Given the description of an element on the screen output the (x, y) to click on. 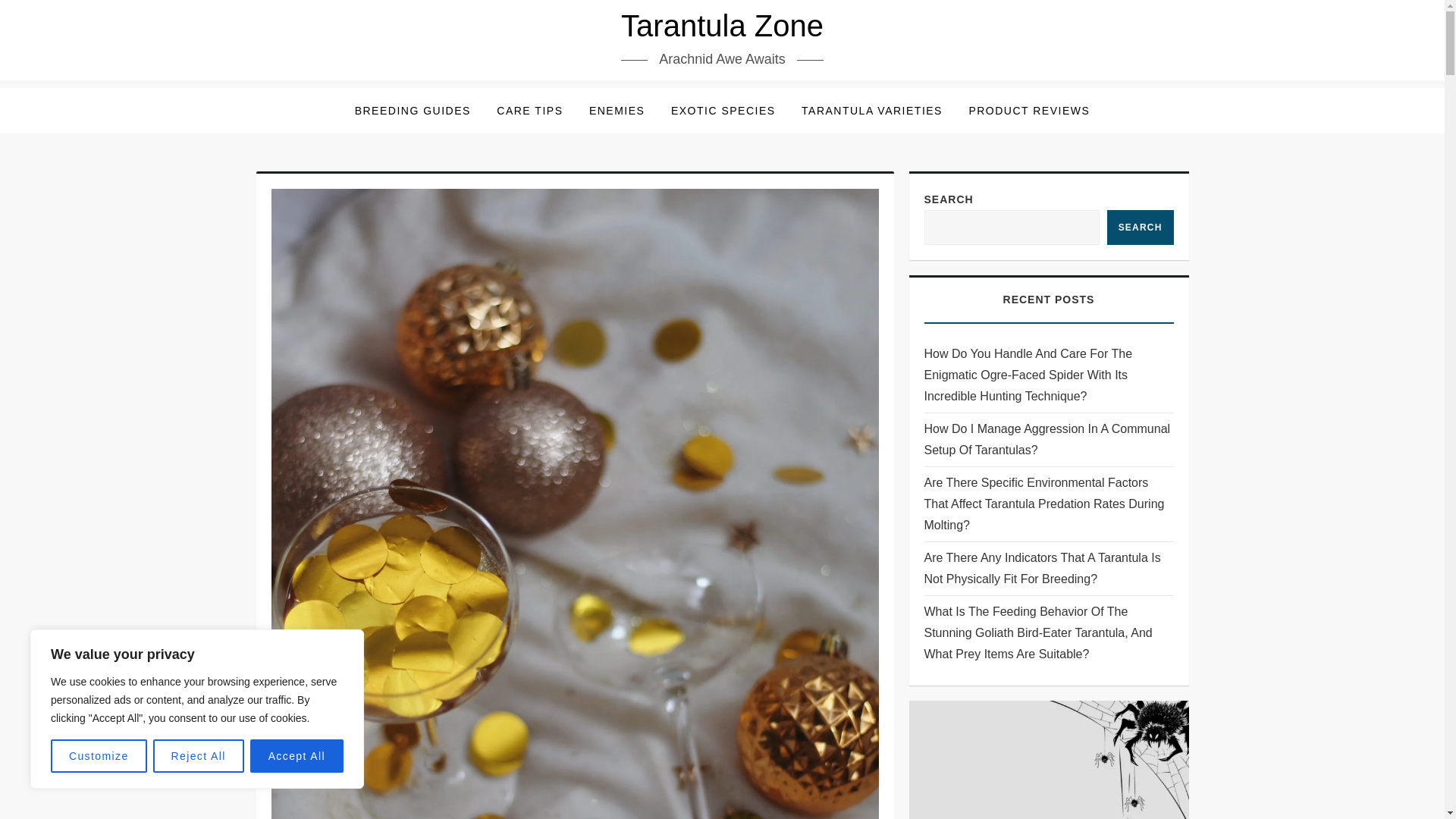
PRODUCT REVIEWS (1028, 110)
Reject All (198, 756)
Tarantula Zone (722, 25)
BREEDING GUIDES (412, 110)
EXOTIC SPECIES (723, 110)
Accept All (296, 756)
Customize (98, 756)
ENEMIES (617, 110)
TARANTULA VARIETIES (871, 110)
CARE TIPS (528, 110)
